Given the description of an element on the screen output the (x, y) to click on. 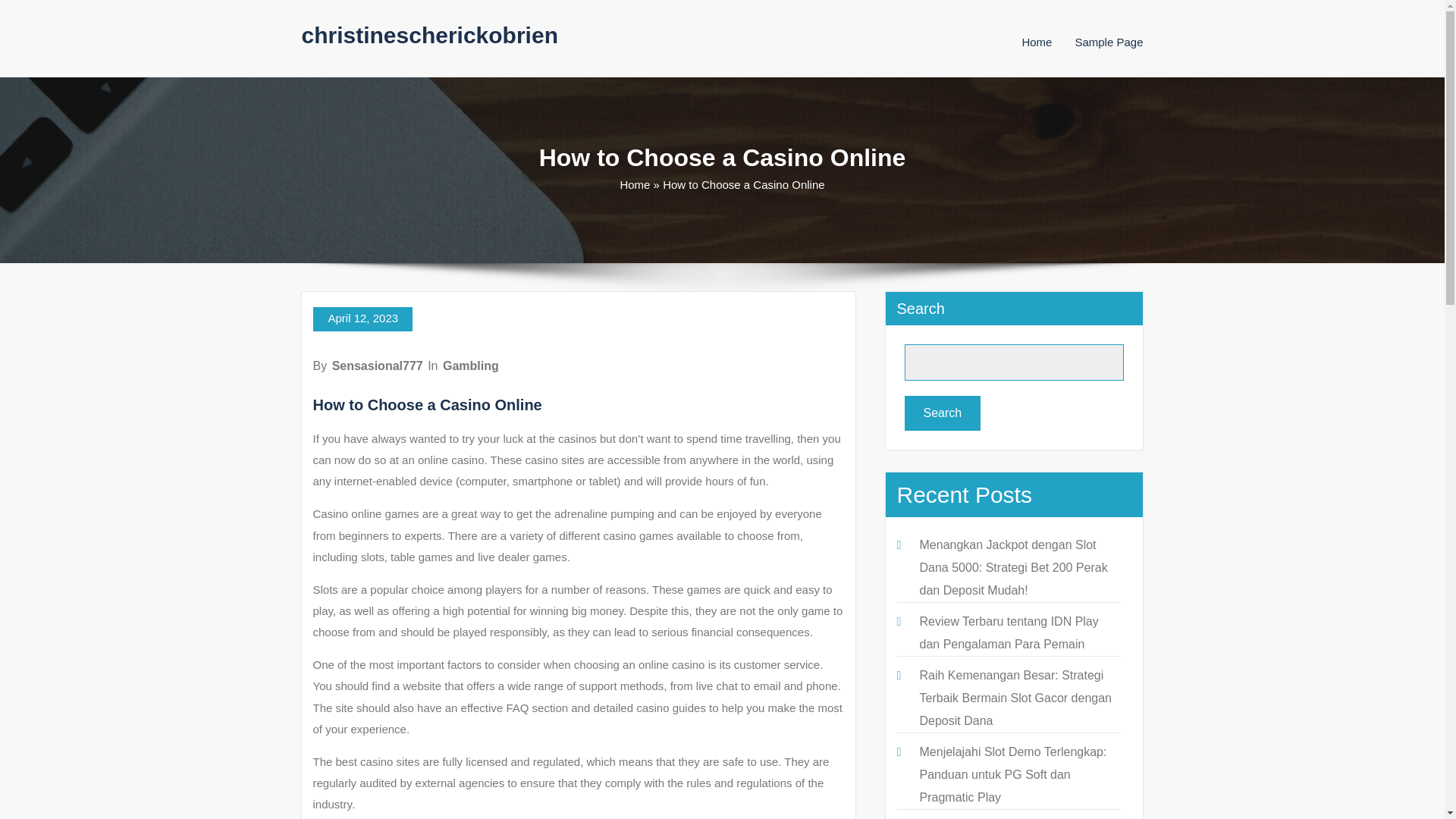
Gambling (470, 365)
Review Terbaru tentang IDN Play dan Pengalaman Para Pemain (1007, 632)
Search (941, 412)
Sensasional777 (377, 365)
Home (1036, 41)
April 12, 2023 (362, 319)
christinescherickobrien (429, 34)
Home (634, 184)
Home (1036, 41)
